Given the description of an element on the screen output the (x, y) to click on. 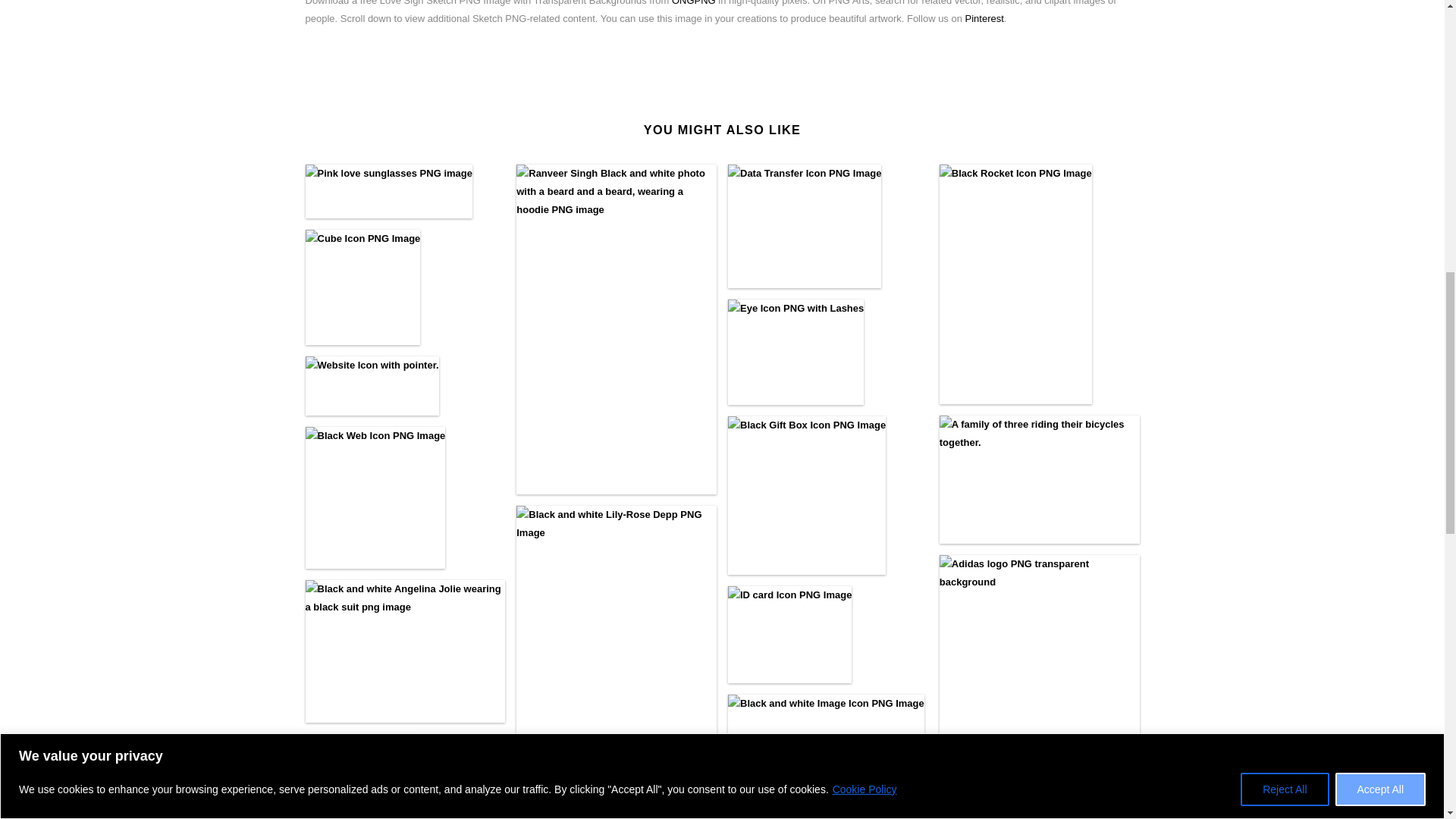
Website Icon PNG Image (371, 385)
Eye Icon PNG Image (795, 352)
Web Icon PNG Image (374, 497)
ID card Icon PNG Image (789, 634)
Love sunglasses PNG image (387, 190)
Data Transfer Icon PNG Image (804, 225)
Cube Icon PNG Image (362, 286)
Gift Box Icon PNG Image (806, 495)
Black Facebook icon png image (359, 776)
Black and white Angelina Jolie PNG Image (404, 650)
